Given the description of an element on the screen output the (x, y) to click on. 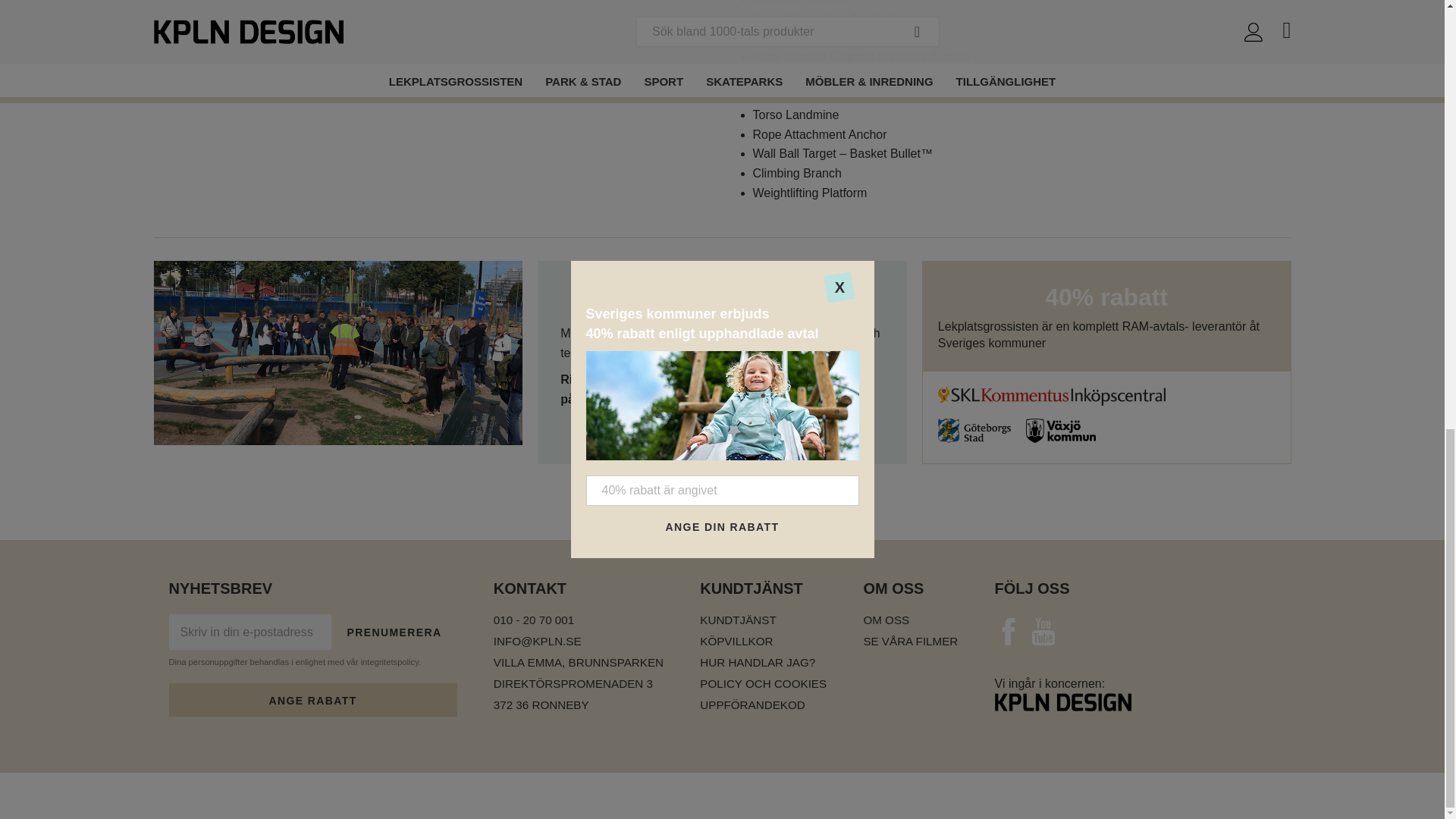
ANGE RABATT (312, 699)
Hur handlar jag? (763, 662)
372 36 RONNEBY (578, 704)
PRENUMERERA (394, 632)
Policy och cookies (763, 683)
Om oss (910, 619)
HUR HANDLAR JAG? (763, 662)
010-20 70 001 (692, 379)
010 - 20 70 001 (578, 619)
372 36 Ronneby (578, 704)
VILLA EMMA, BRUNNSPARKEN (578, 662)
integritetspolicy (390, 661)
Villa Emma, Brunnsparken (578, 662)
010 - 20 70 001 (578, 619)
